Given the description of an element on the screen output the (x, y) to click on. 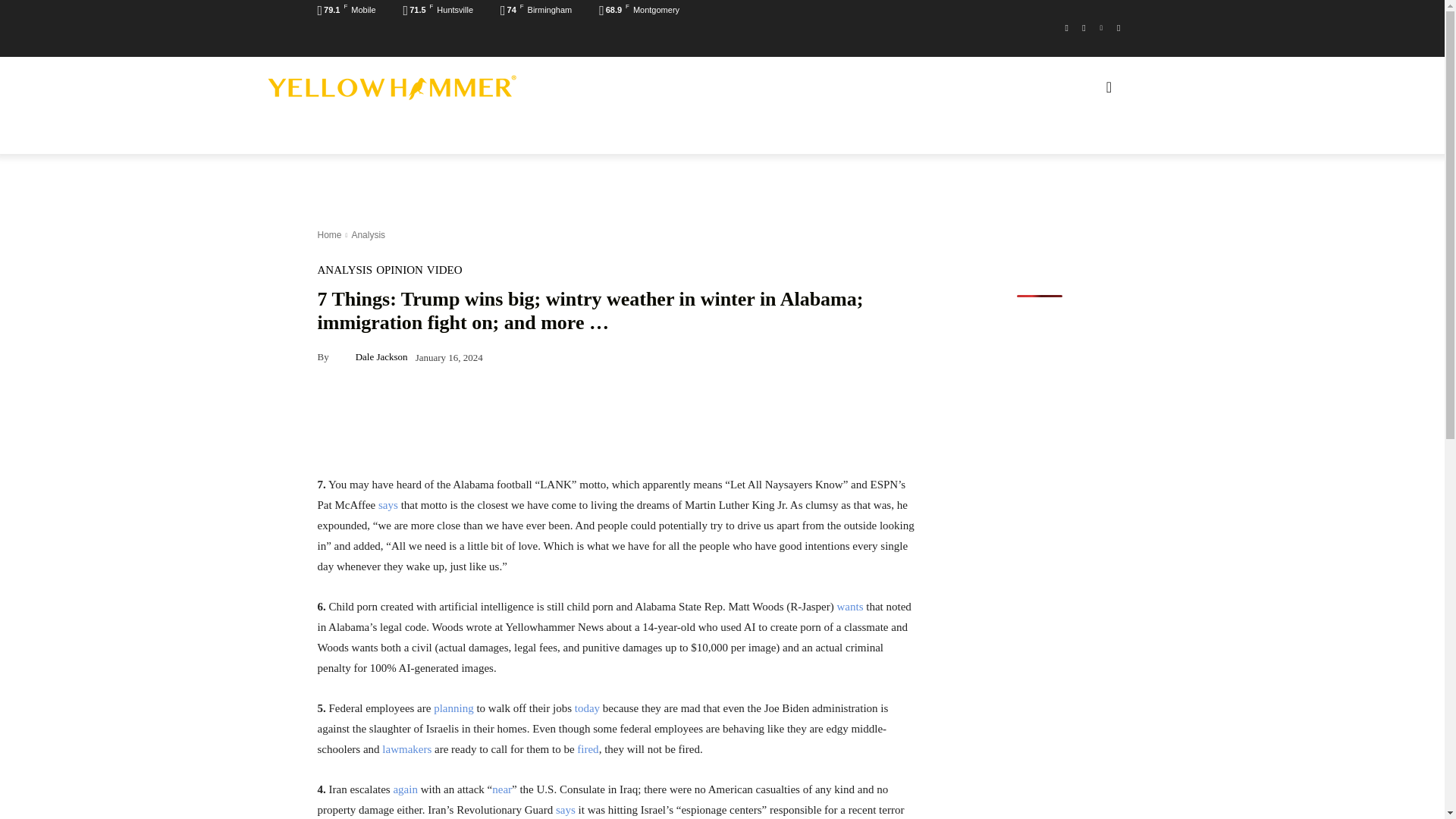
Facebook (1066, 27)
Instagram (1084, 27)
Dale Jackson (343, 356)
Twitter (1117, 27)
View all posts in Analysis (367, 235)
Linkedin (1101, 27)
